Given the description of an element on the screen output the (x, y) to click on. 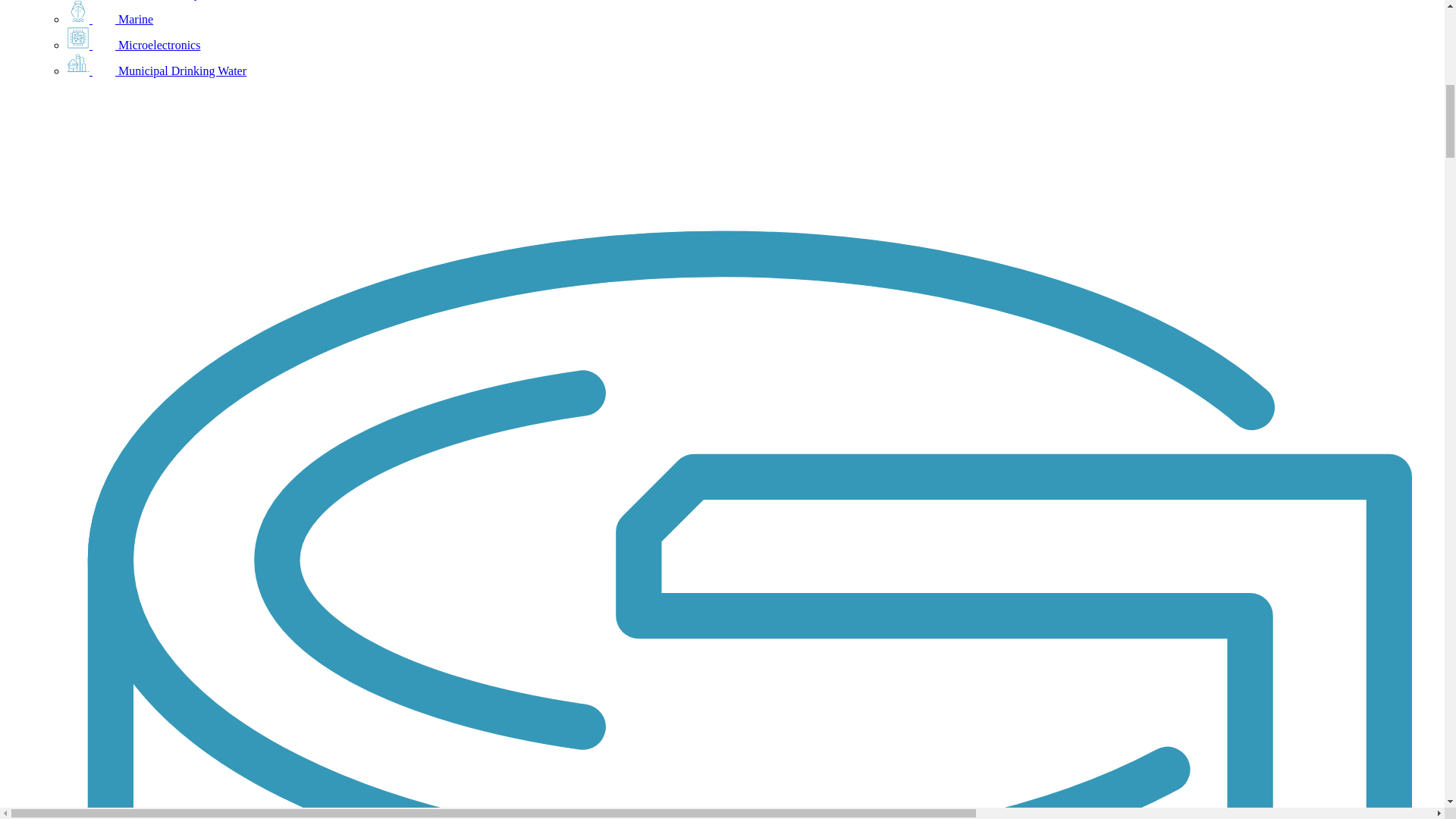
Municipal Drinking Water (156, 70)
Marine (109, 19)
Microelectronics (133, 44)
